Given the description of an element on the screen output the (x, y) to click on. 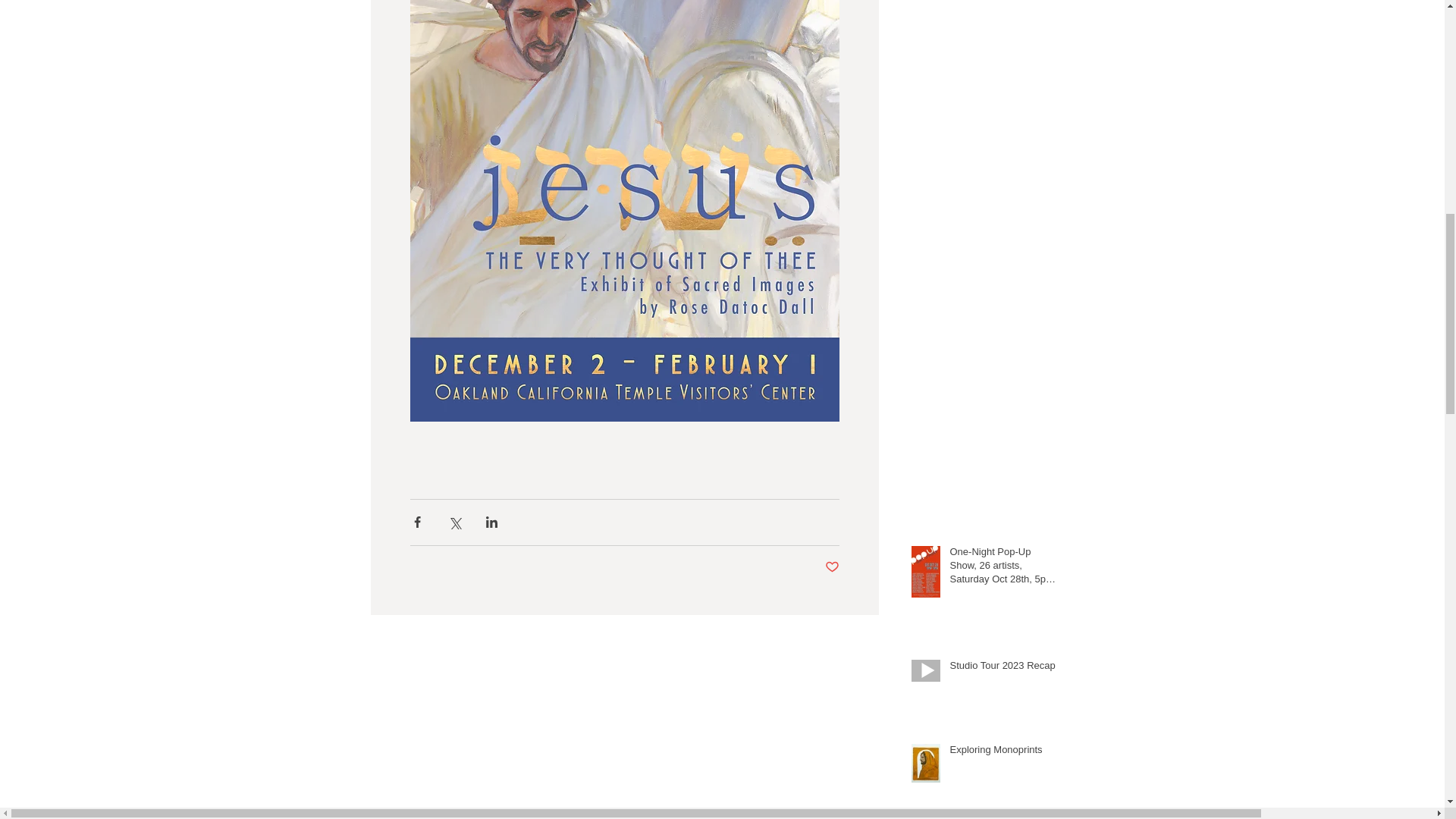
Studio Tour 2023 Recap (1003, 668)
Exploring Monoprints (1003, 752)
Post not marked as liked (832, 567)
